Given the description of an element on the screen output the (x, y) to click on. 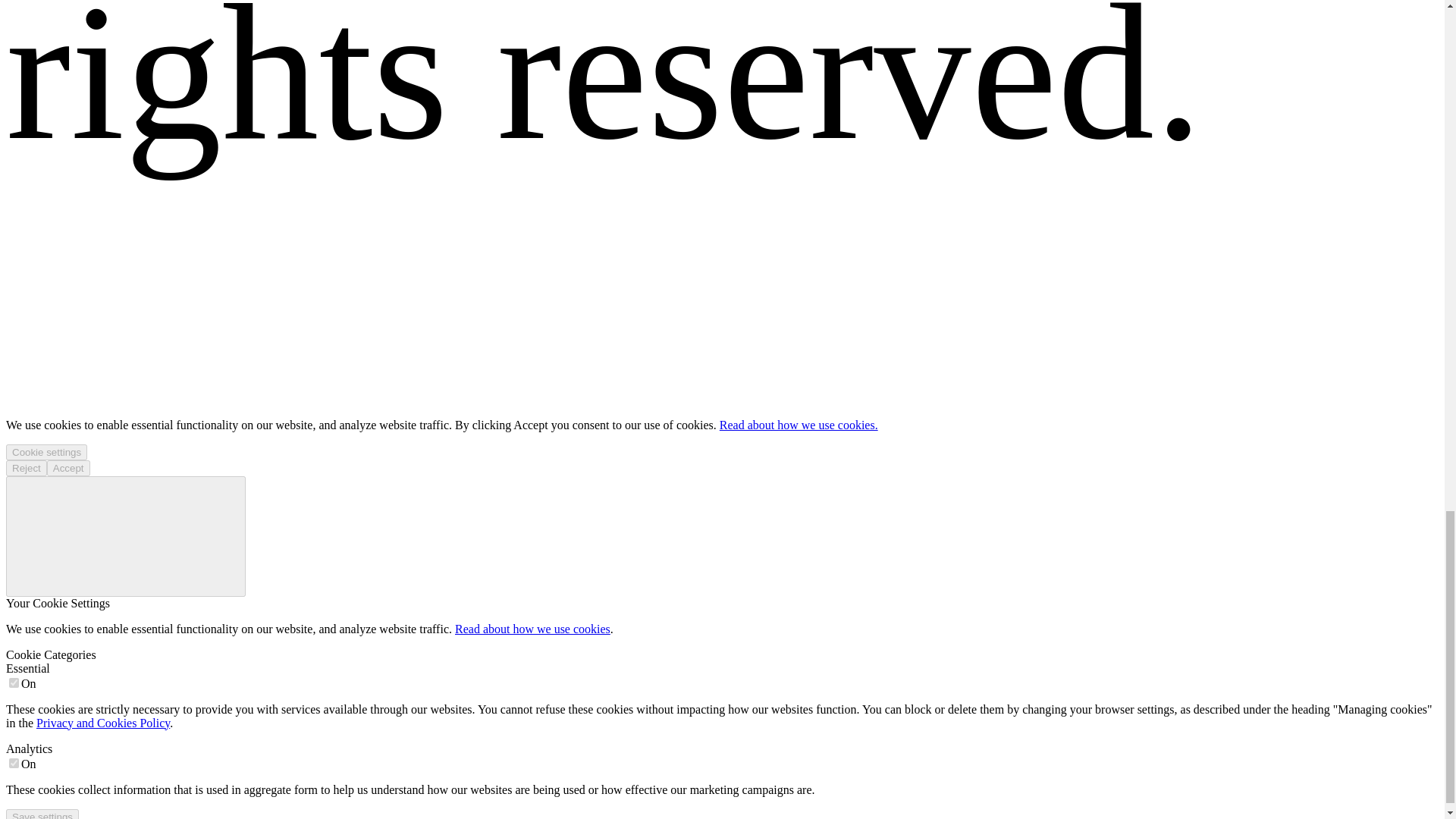
Read about how we use cookies. (798, 424)
on (13, 763)
Reject (25, 467)
Accept (68, 467)
Privacy and Cookies Policy (103, 722)
on (13, 682)
Read about how we use cookies (532, 628)
Cookie settings (46, 452)
